Given the description of an element on the screen output the (x, y) to click on. 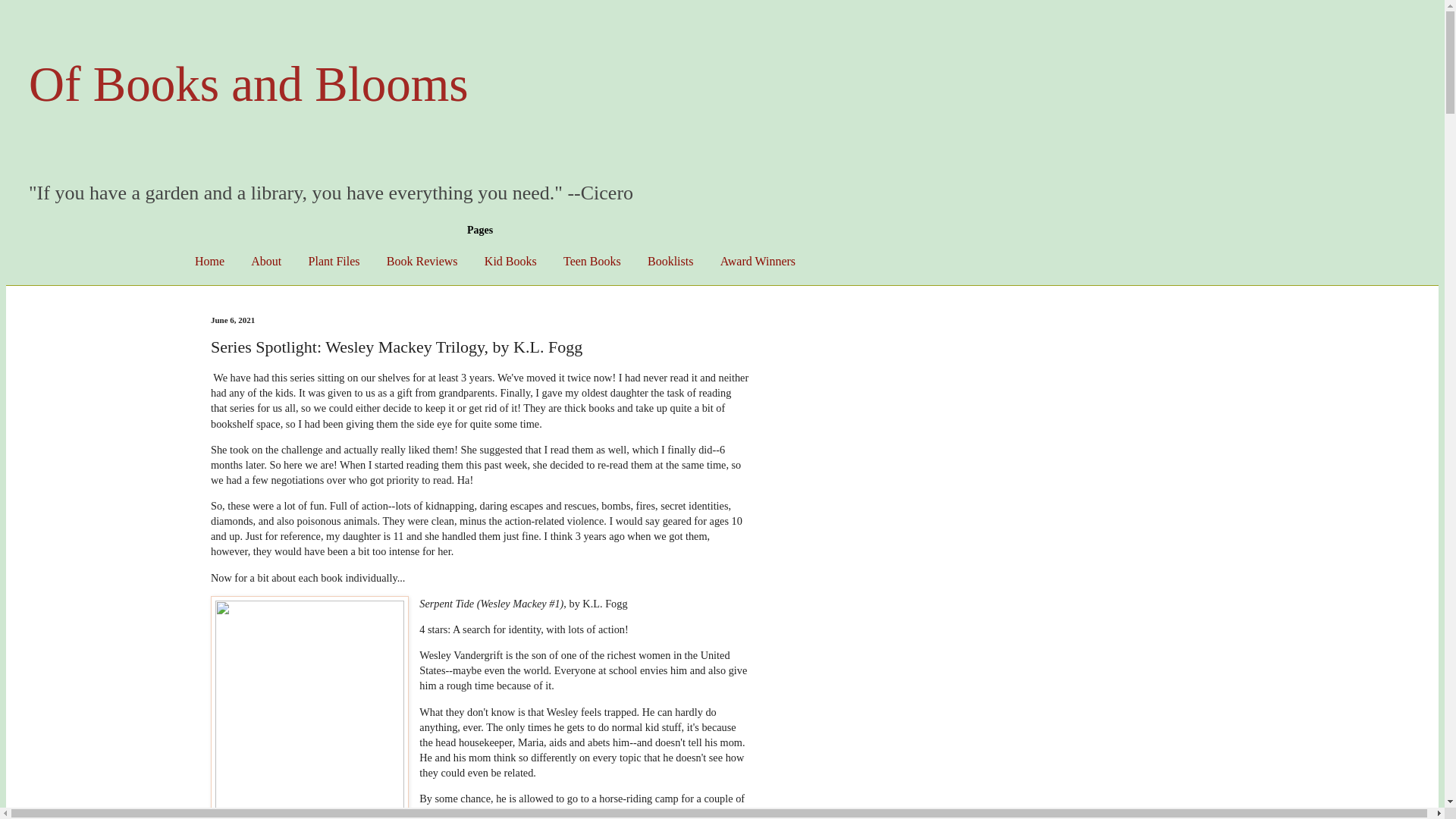
Book Reviews (422, 261)
Award Winners (757, 261)
Teen Books (592, 261)
About (266, 261)
Booklists (669, 261)
Of Books and Blooms (248, 83)
Home (209, 261)
Kid Books (509, 261)
Plant Files (334, 261)
